Given the description of an element on the screen output the (x, y) to click on. 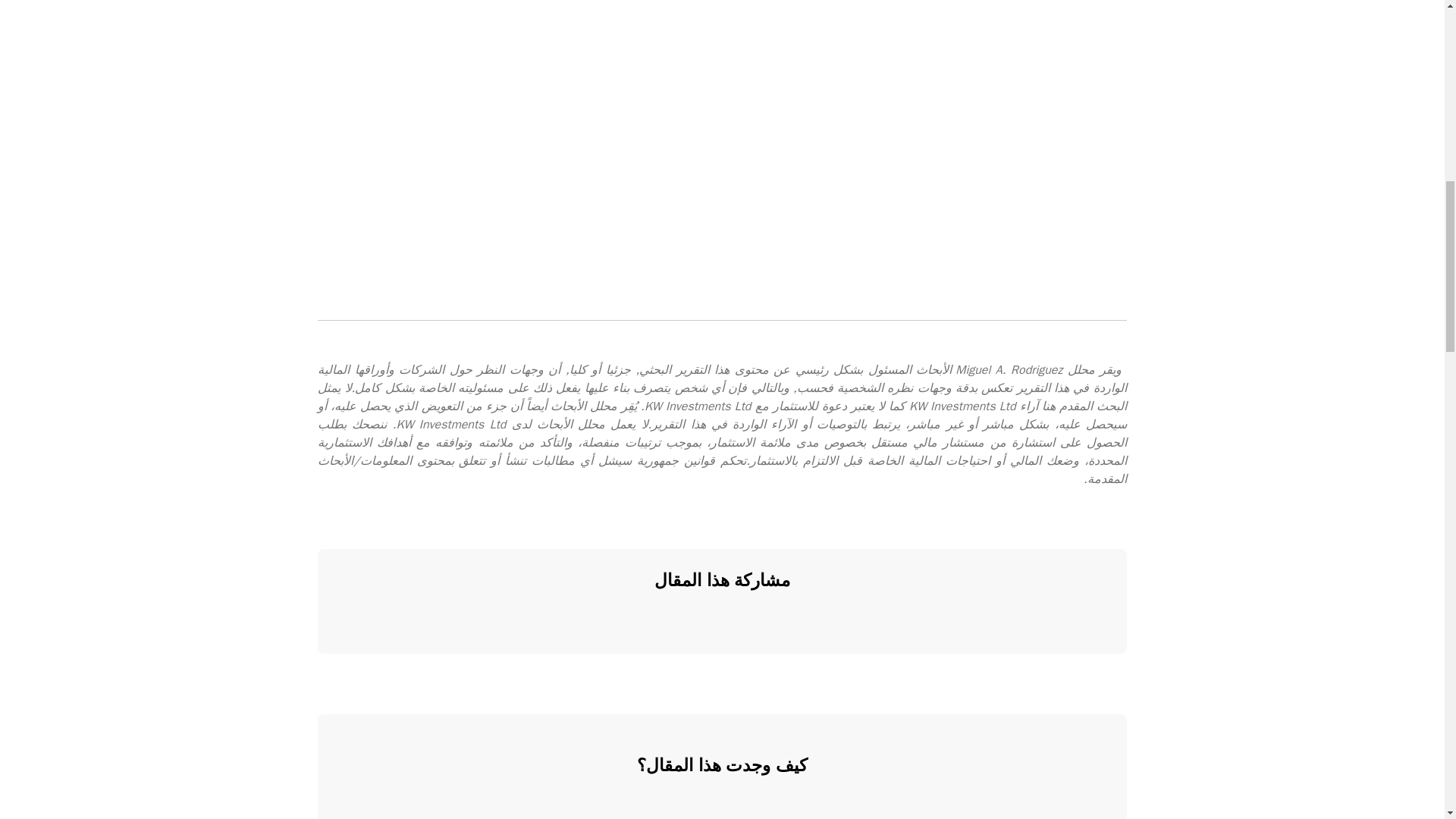
Article Hero (768, 622)
Article Hero (675, 622)
Article Hero (721, 622)
